Given the description of an element on the screen output the (x, y) to click on. 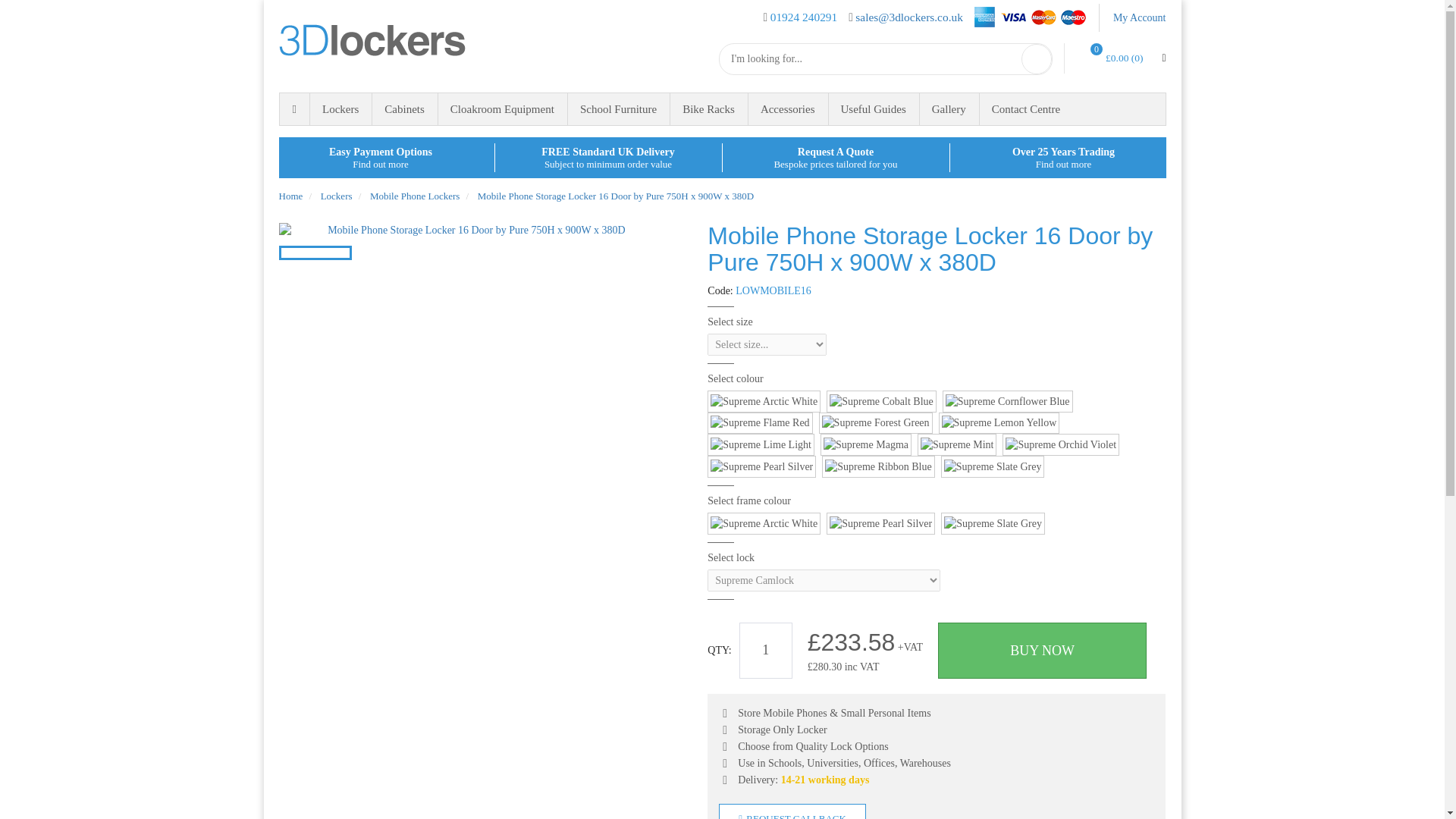
Useful Guides (873, 109)
Contact Centre (1025, 109)
My Account (1139, 17)
Cabinets (404, 109)
Gallery (948, 109)
Lockers (339, 109)
Lockers (339, 109)
Home (293, 109)
1 (765, 650)
